Given the description of an element on the screen output the (x, y) to click on. 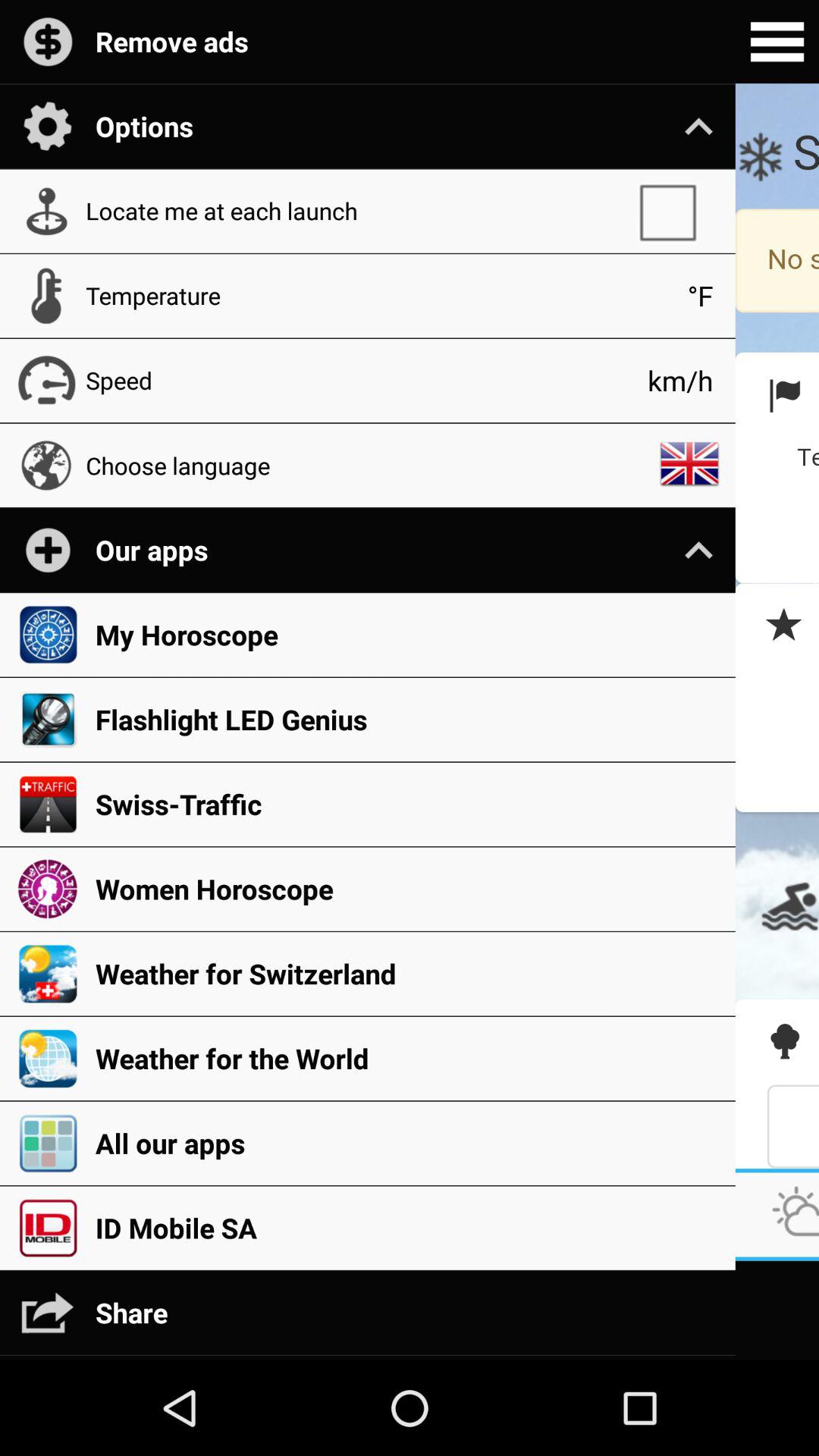
press icon above the swiss-traffic app (407, 719)
